Given the description of an element on the screen output the (x, y) to click on. 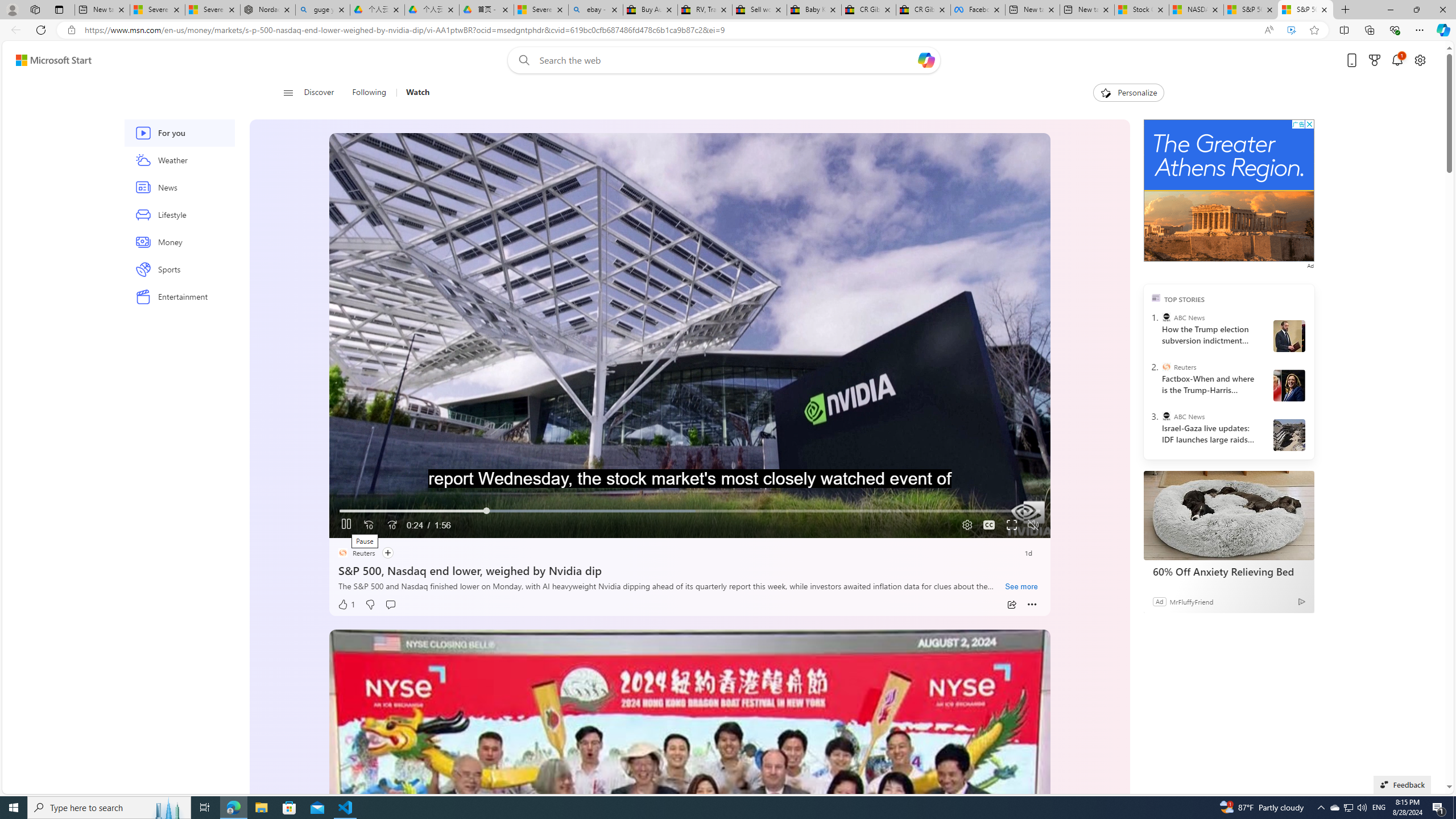
Buy Auto Parts & Accessories | eBay (650, 9)
Advertisement (1228, 190)
Captions (988, 525)
To get missing image descriptions, open the context menu. (368, 524)
